Given the description of an element on the screen output the (x, y) to click on. 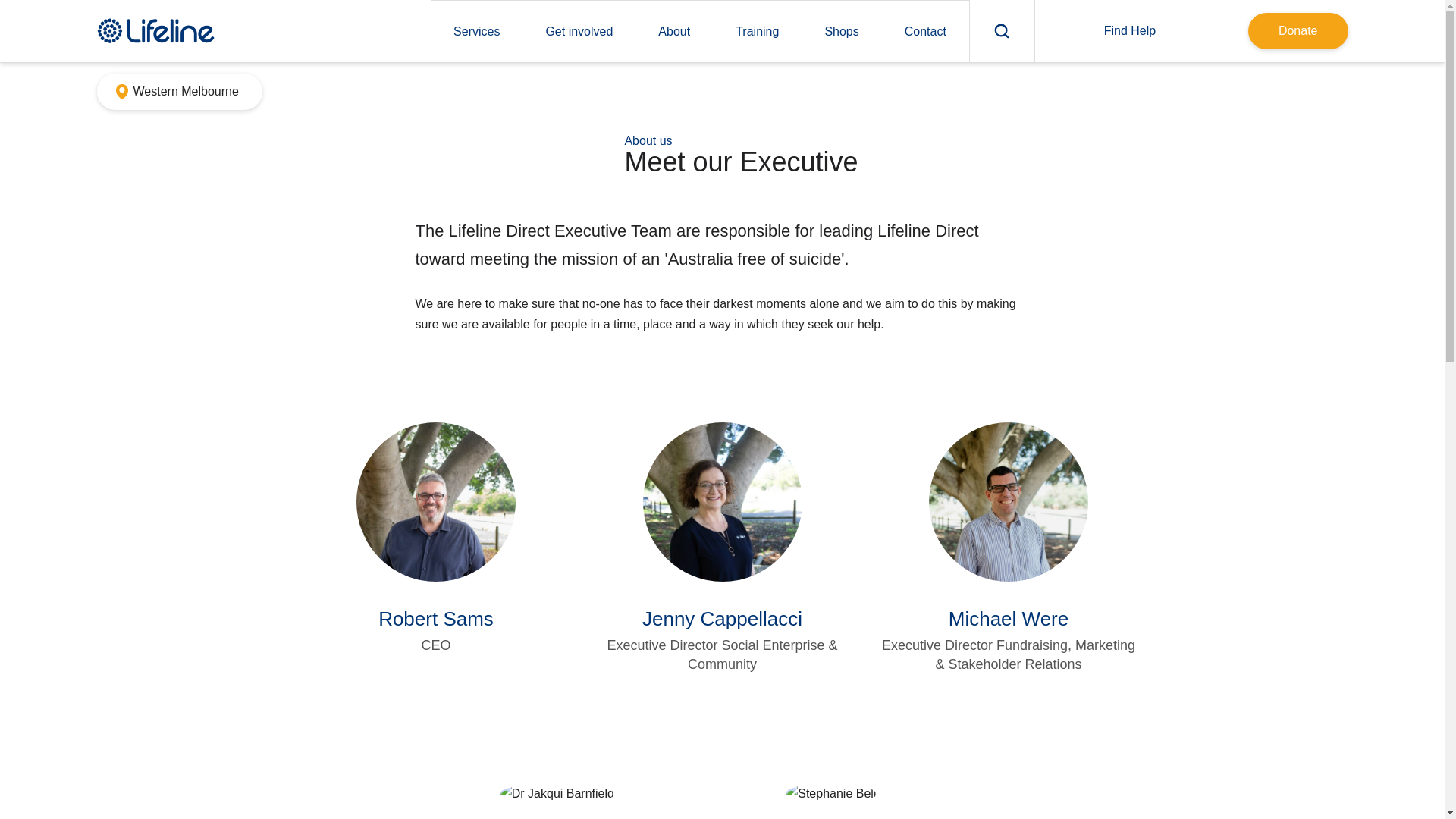
Services (476, 31)
Western Melbourne (179, 91)
Get involved (578, 31)
Training (757, 31)
About (673, 31)
